Given the description of an element on the screen output the (x, y) to click on. 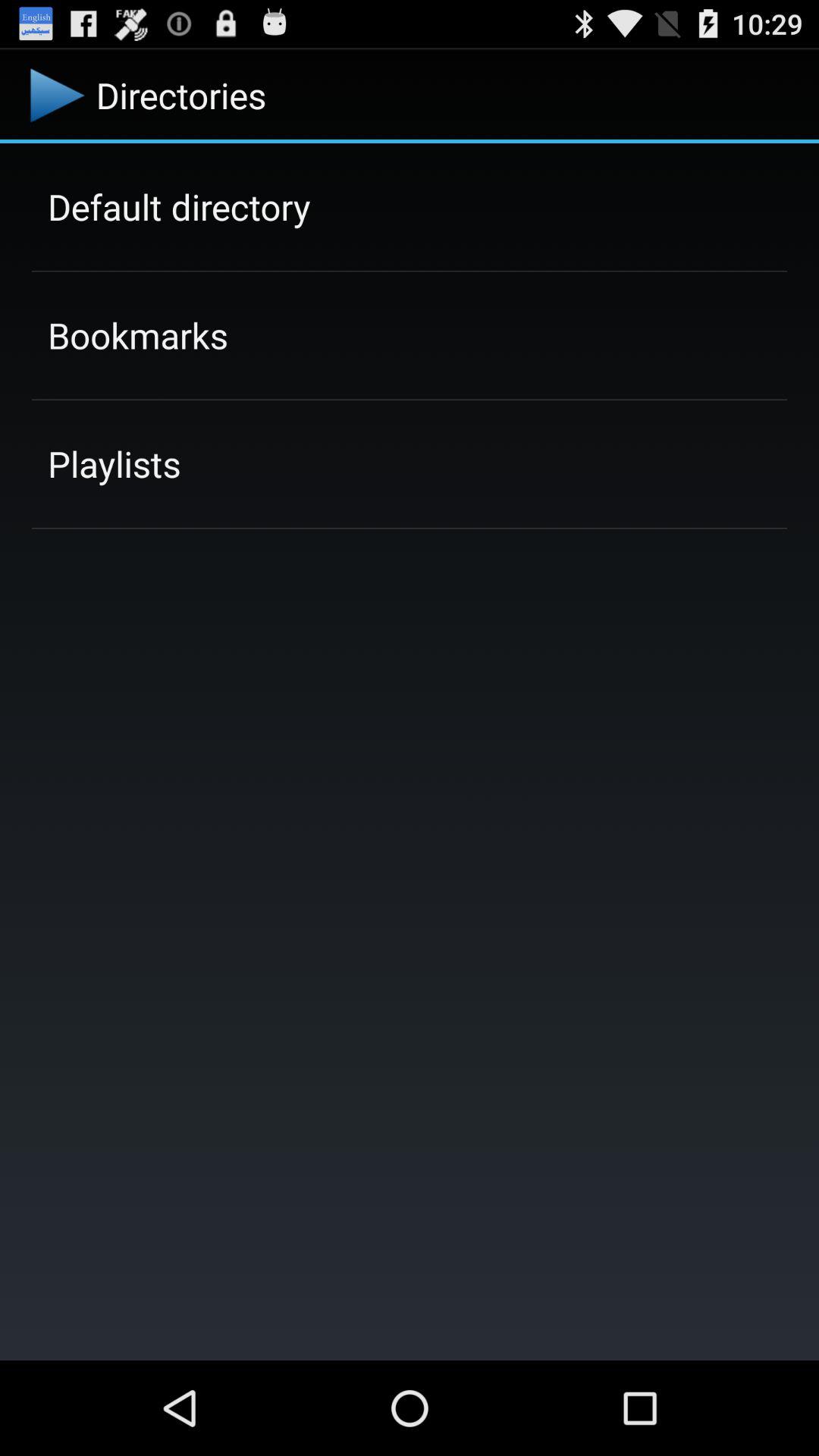
tap app below bookmarks item (113, 463)
